Given the description of an element on the screen output the (x, y) to click on. 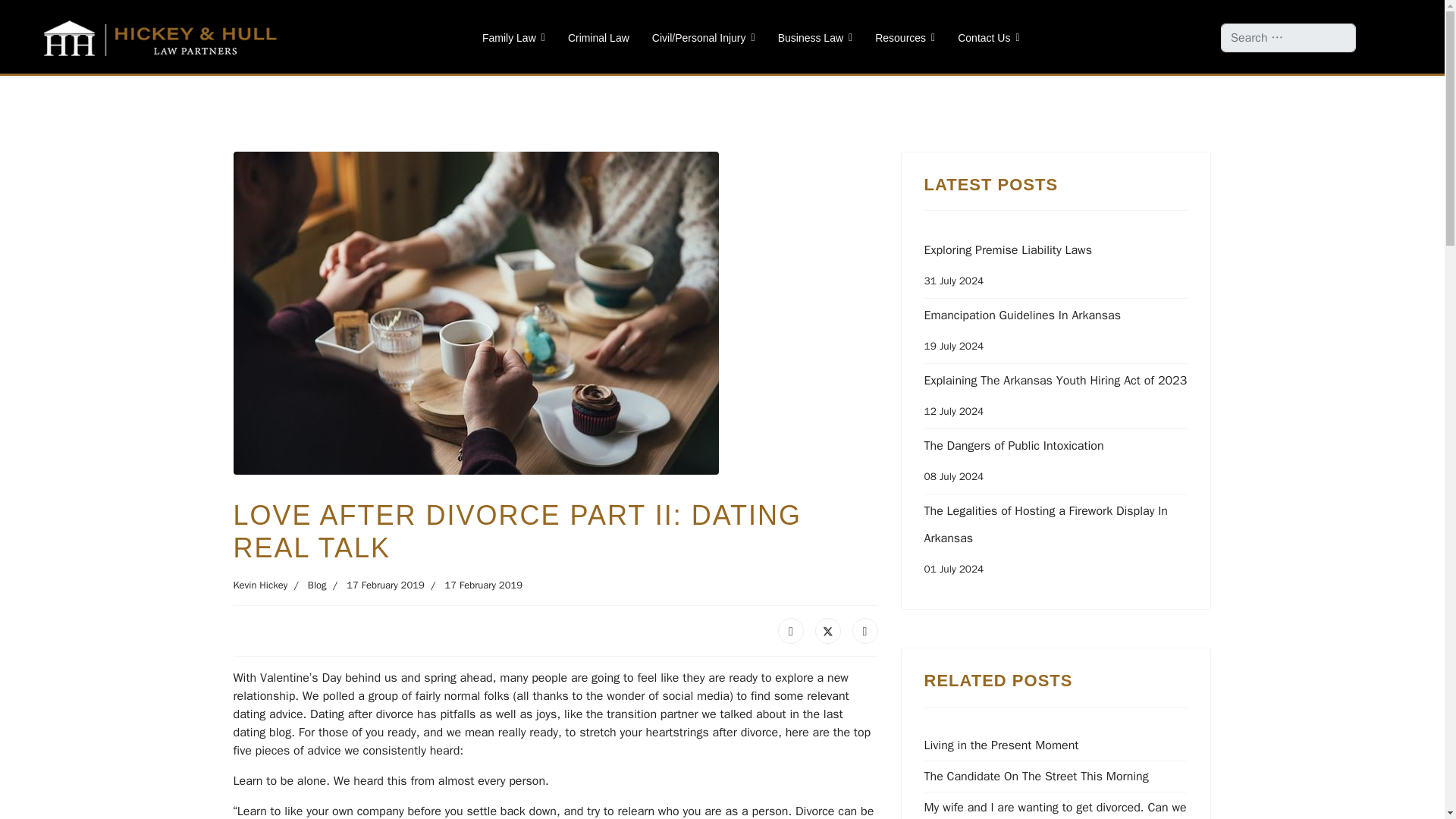
Facebook (790, 630)
Category: Blog (306, 585)
LinkedIn (864, 630)
Written by: Kevin Hickey (260, 585)
Published: 17 February 2019 (375, 585)
Business Law (815, 38)
Contact Us (982, 38)
Family Law (513, 38)
Criminal Defense (598, 38)
Resources (904, 38)
